Given the description of an element on the screen output the (x, y) to click on. 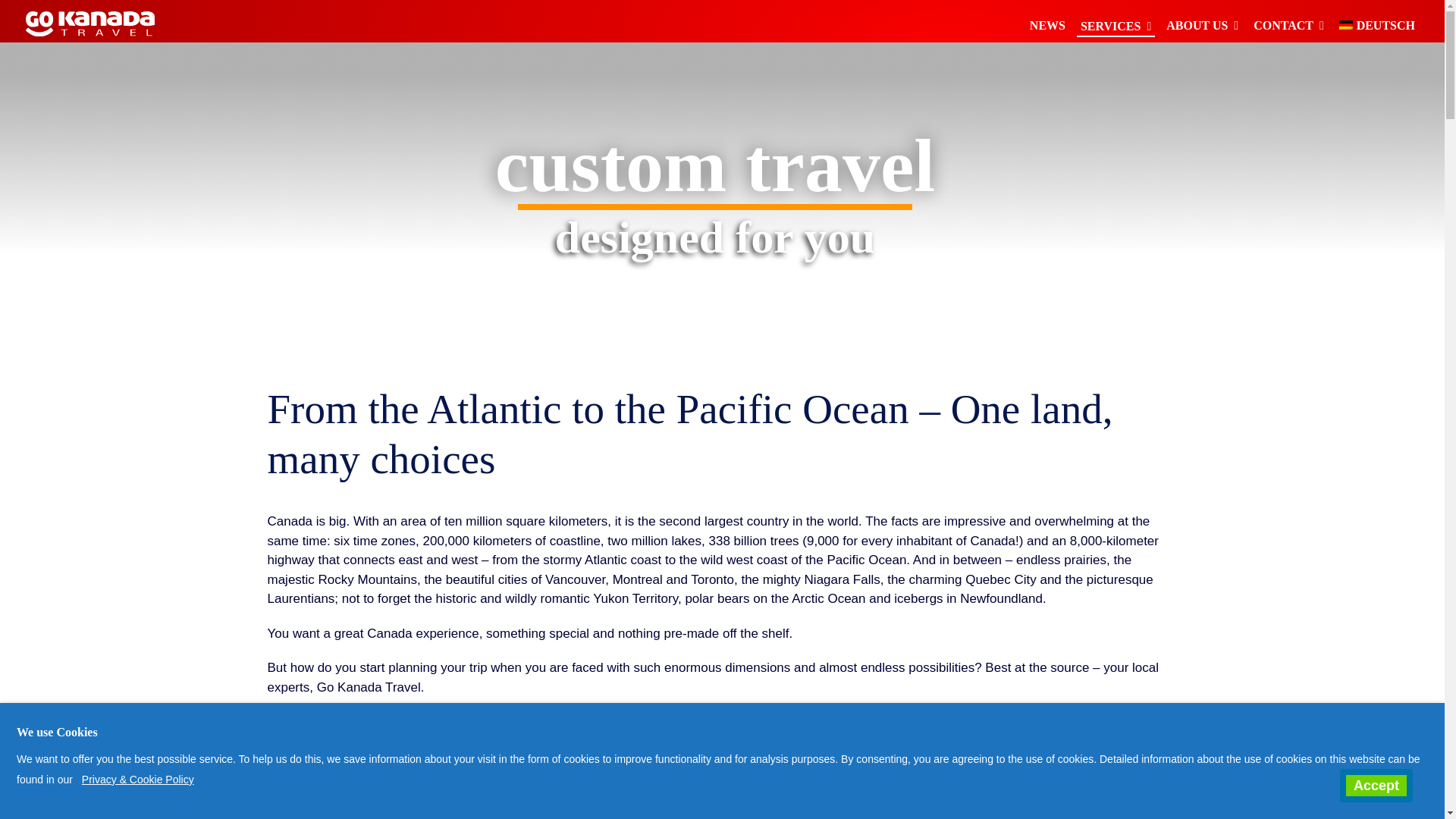
DEUTSCH (1376, 22)
Home (90, 23)
NEWS (1047, 22)
Home (90, 26)
SERVICES (1115, 22)
ABOUT US (1201, 22)
Deutsch (1376, 22)
CONTACT (1288, 22)
